Given the description of an element on the screen output the (x, y) to click on. 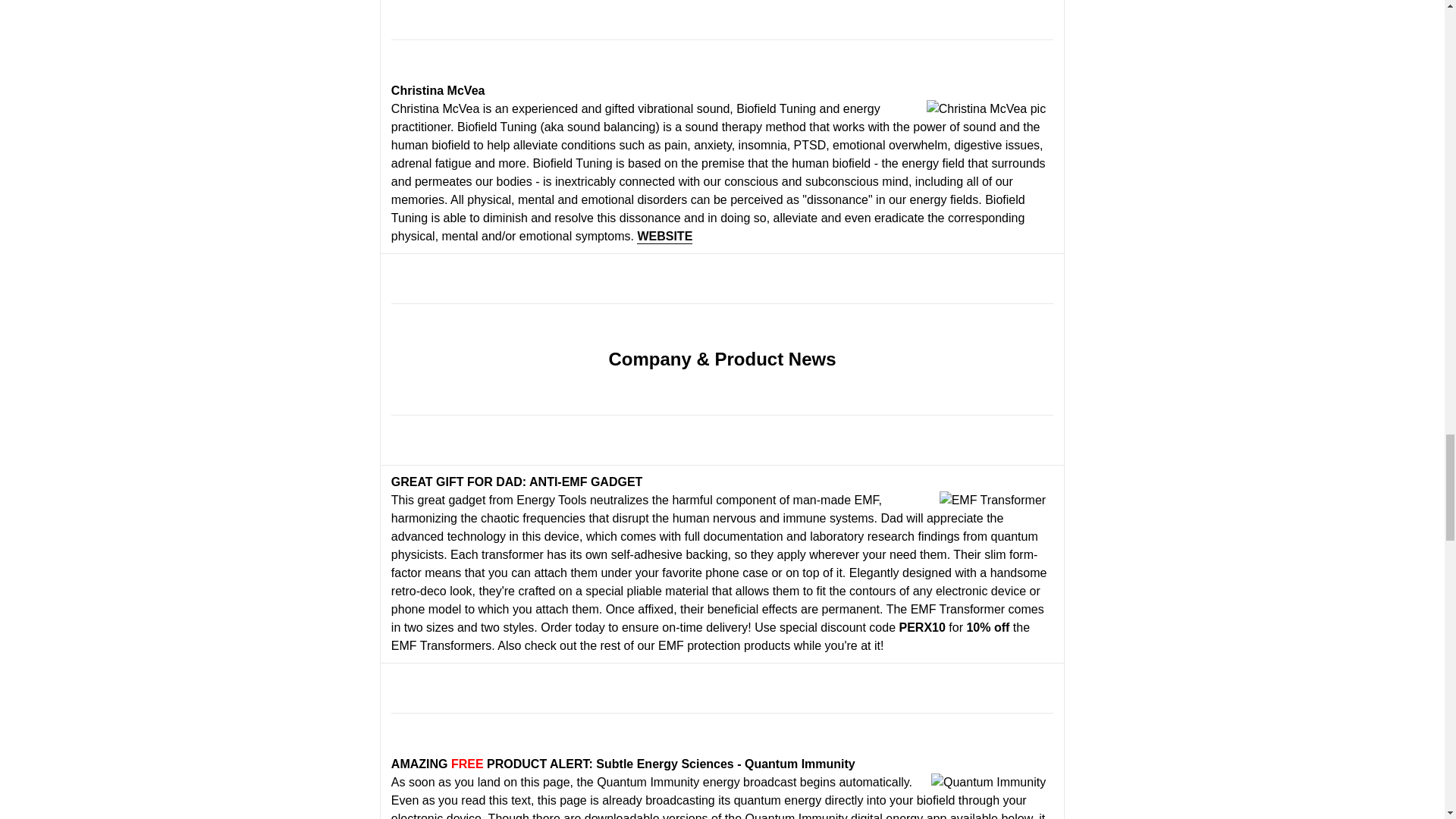
Christina McVea (985, 108)
